Given the description of an element on the screen output the (x, y) to click on. 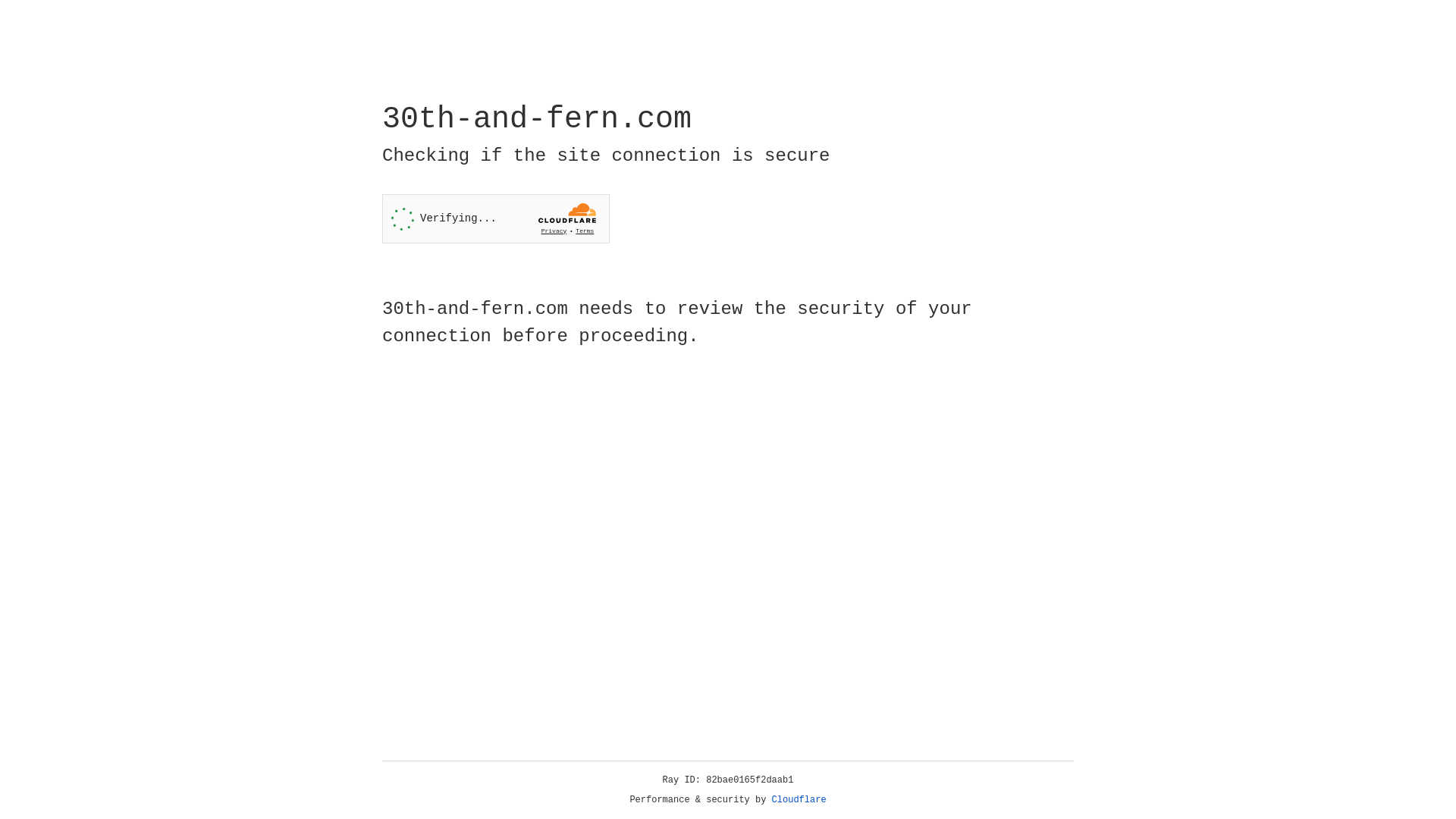
Widget containing a Cloudflare security challenge Element type: hover (495, 218)
Cloudflare Element type: text (798, 799)
